Given the description of an element on the screen output the (x, y) to click on. 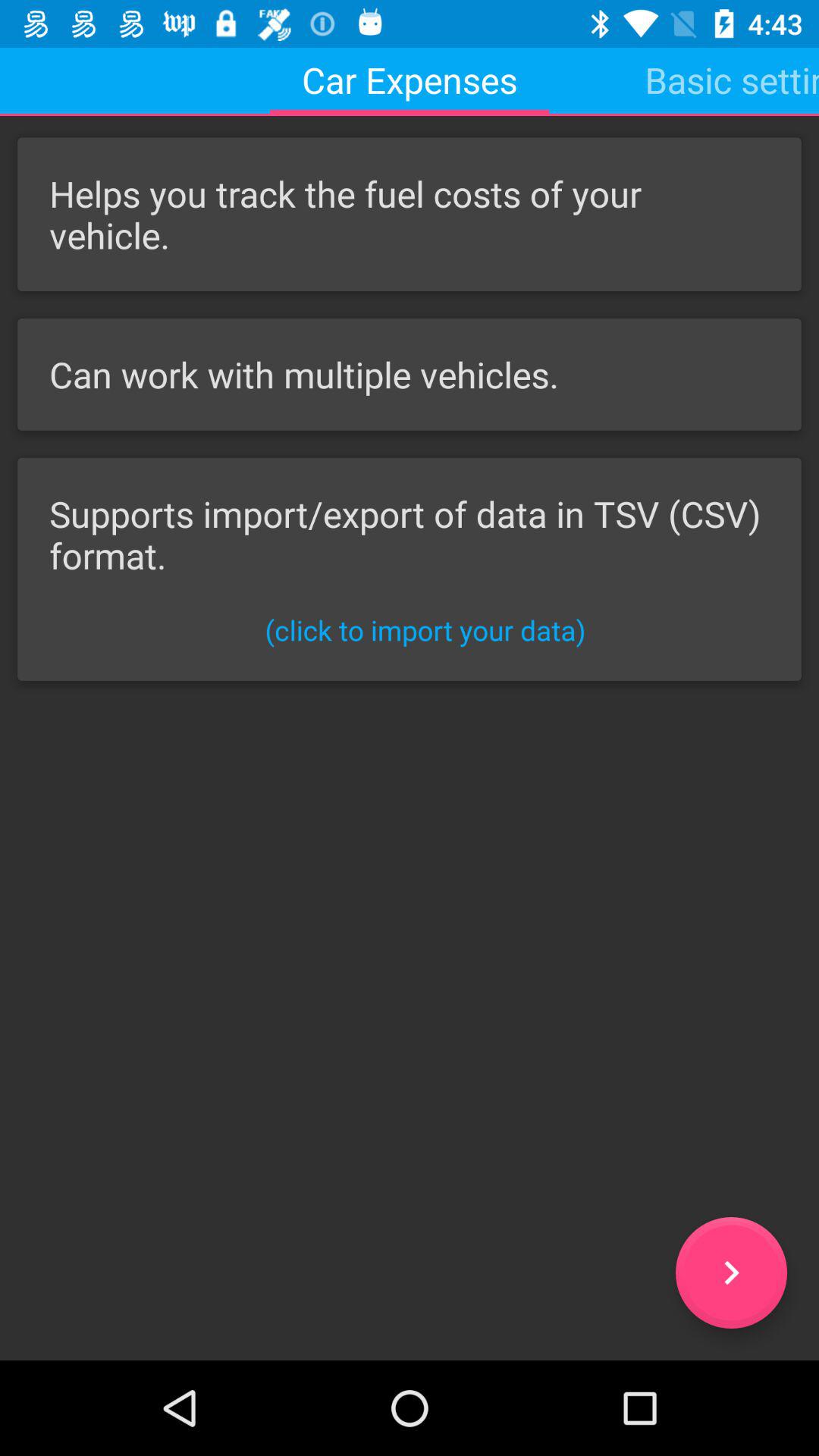
open item below click to import (731, 1272)
